Given the description of an element on the screen output the (x, y) to click on. 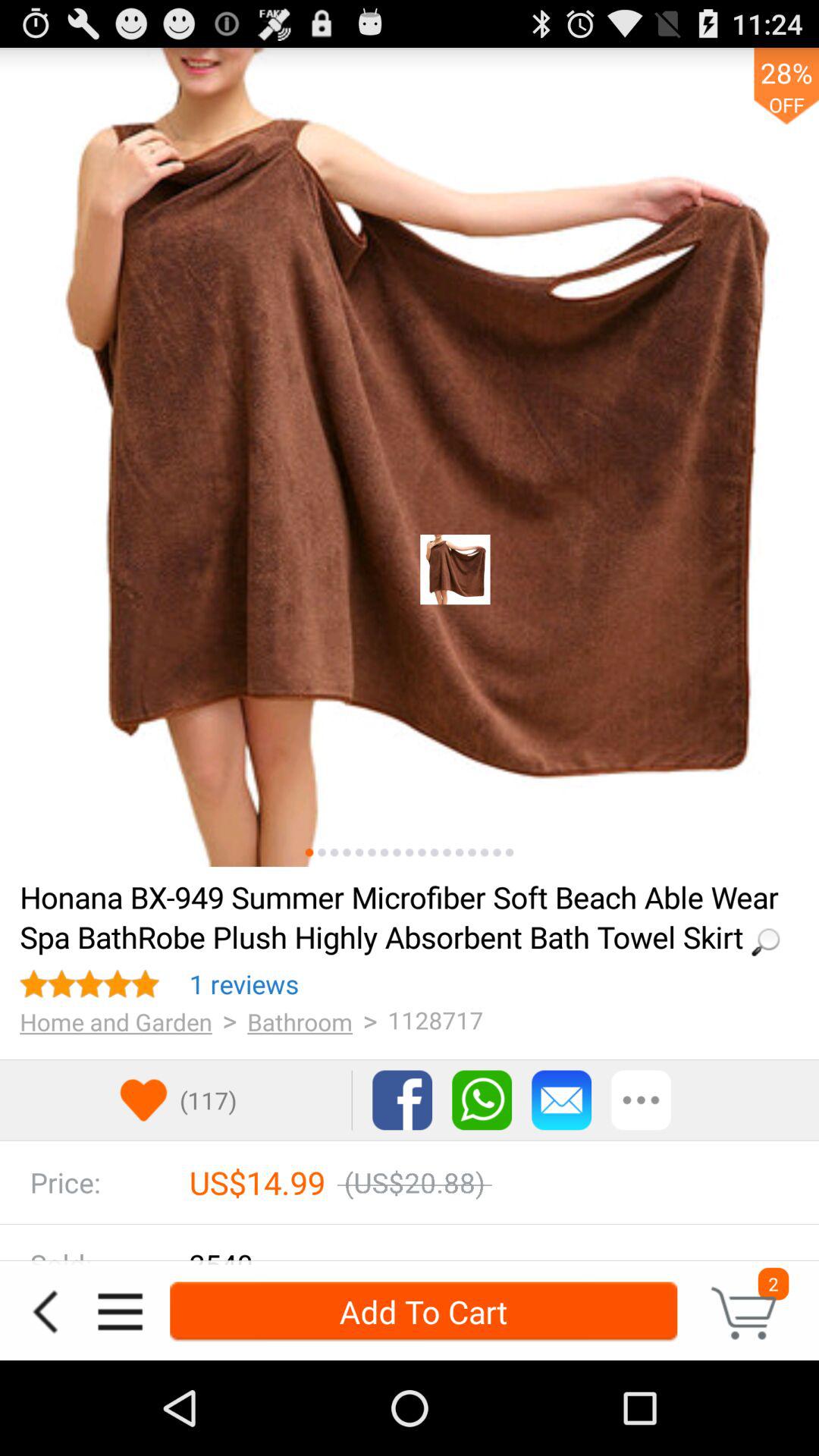
turn off the icon to the left of the add to cart (120, 1311)
